Given the description of an element on the screen output the (x, y) to click on. 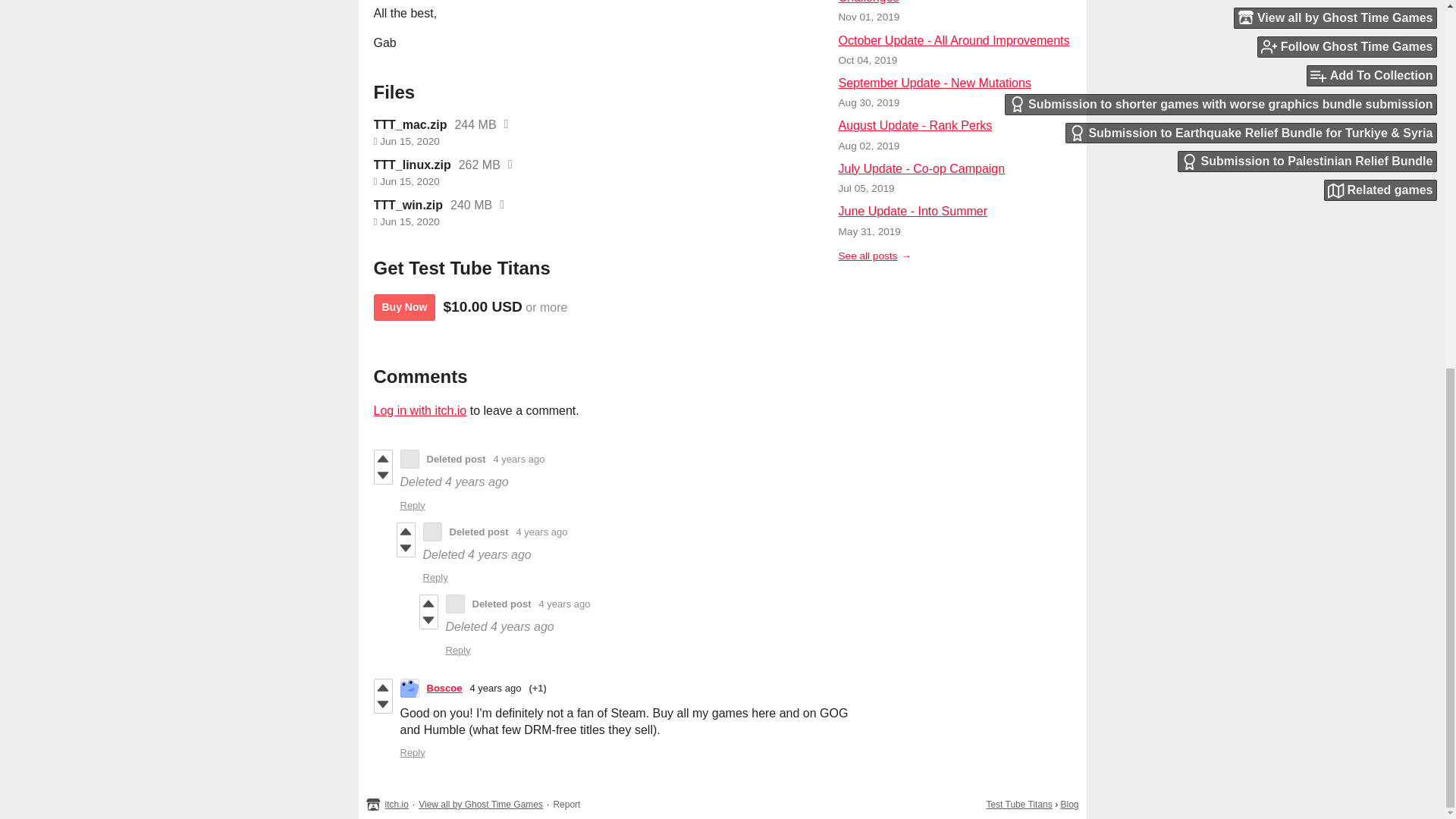
June Update - Into Summer (913, 210)
October Update - All Around Improvements (954, 40)
See all posts (874, 255)
Buy Now (403, 307)
Log in with itch.io (418, 410)
July Update - Co-op Campaign (922, 168)
August Update - Rank Perks (915, 124)
September Update - New Mutations (934, 82)
November Update - Reimagining Challenges (926, 2)
